Given the description of an element on the screen output the (x, y) to click on. 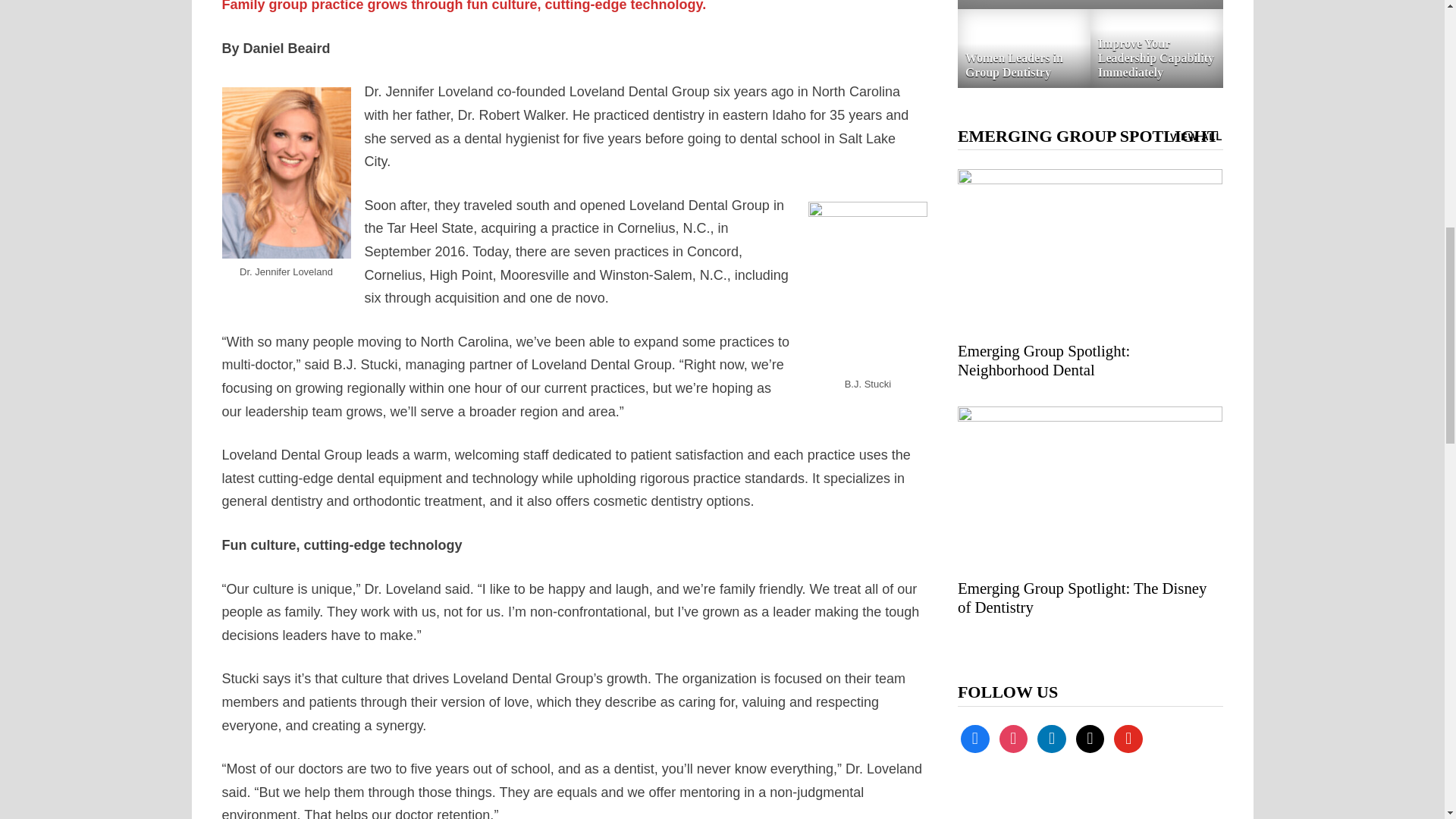
Default Label (1050, 737)
Instagram (1012, 737)
Facebook (975, 737)
